Given the description of an element on the screen output the (x, y) to click on. 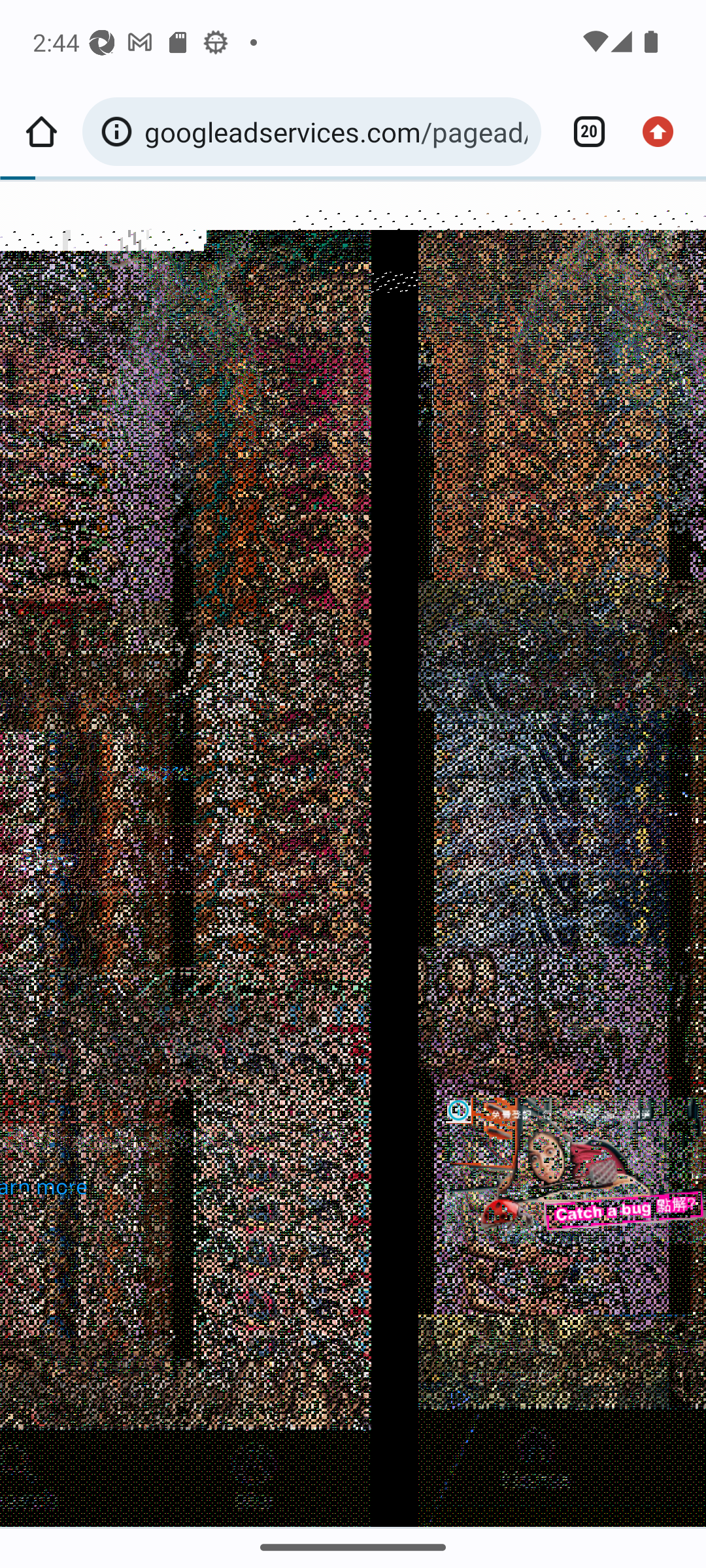
Home (41, 131)
Your connection to this site is not secure (120, 131)
Switch or close tabs (582, 131)
Update available. More options (664, 131)
